Given the description of an element on the screen output the (x, y) to click on. 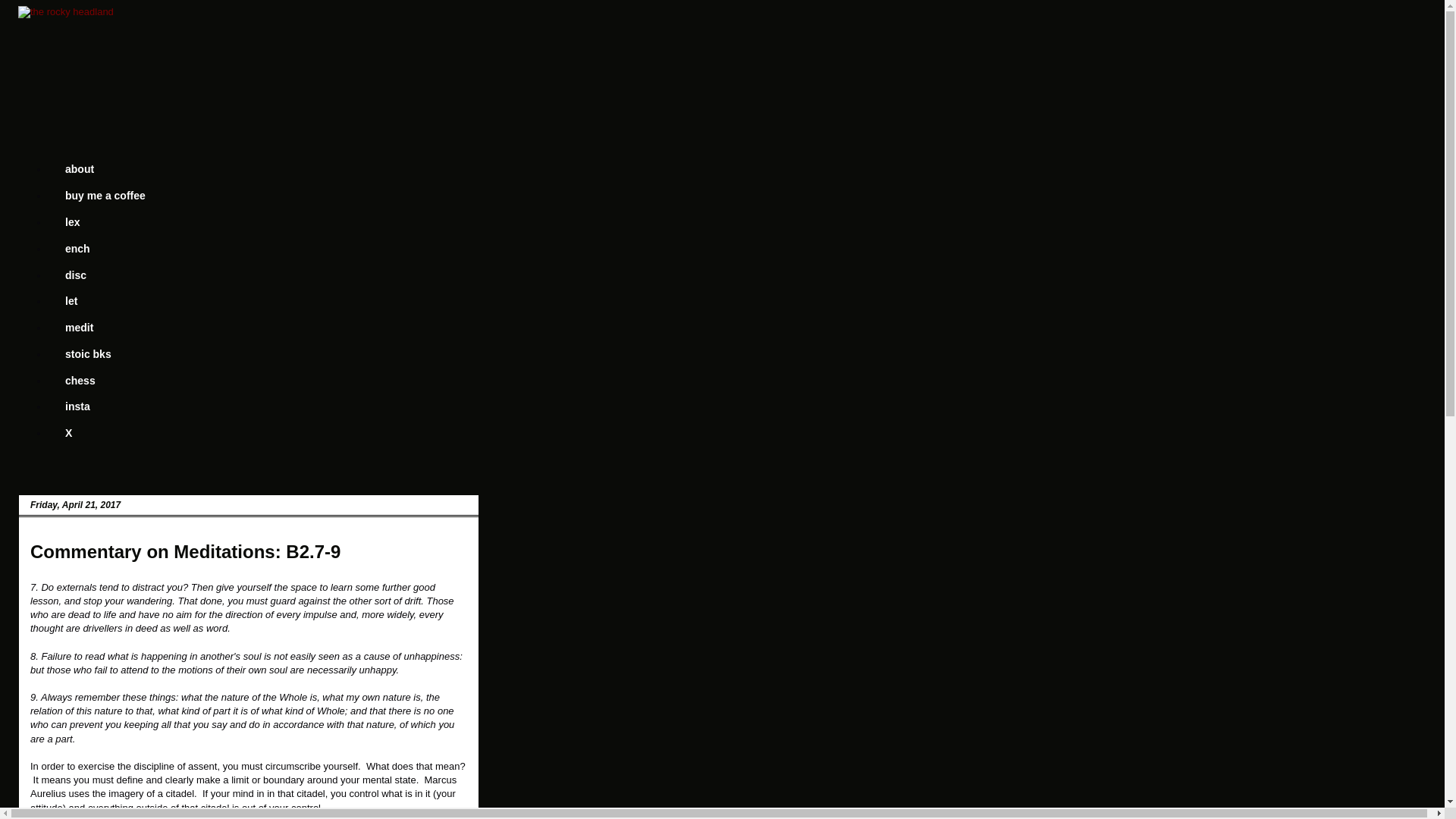
buy me a coffee (104, 195)
let (70, 301)
about (79, 169)
X (68, 433)
chess (80, 379)
disc (74, 274)
medit (78, 327)
insta (77, 406)
stoic bks (88, 353)
ench (77, 248)
